Given the description of an element on the screen output the (x, y) to click on. 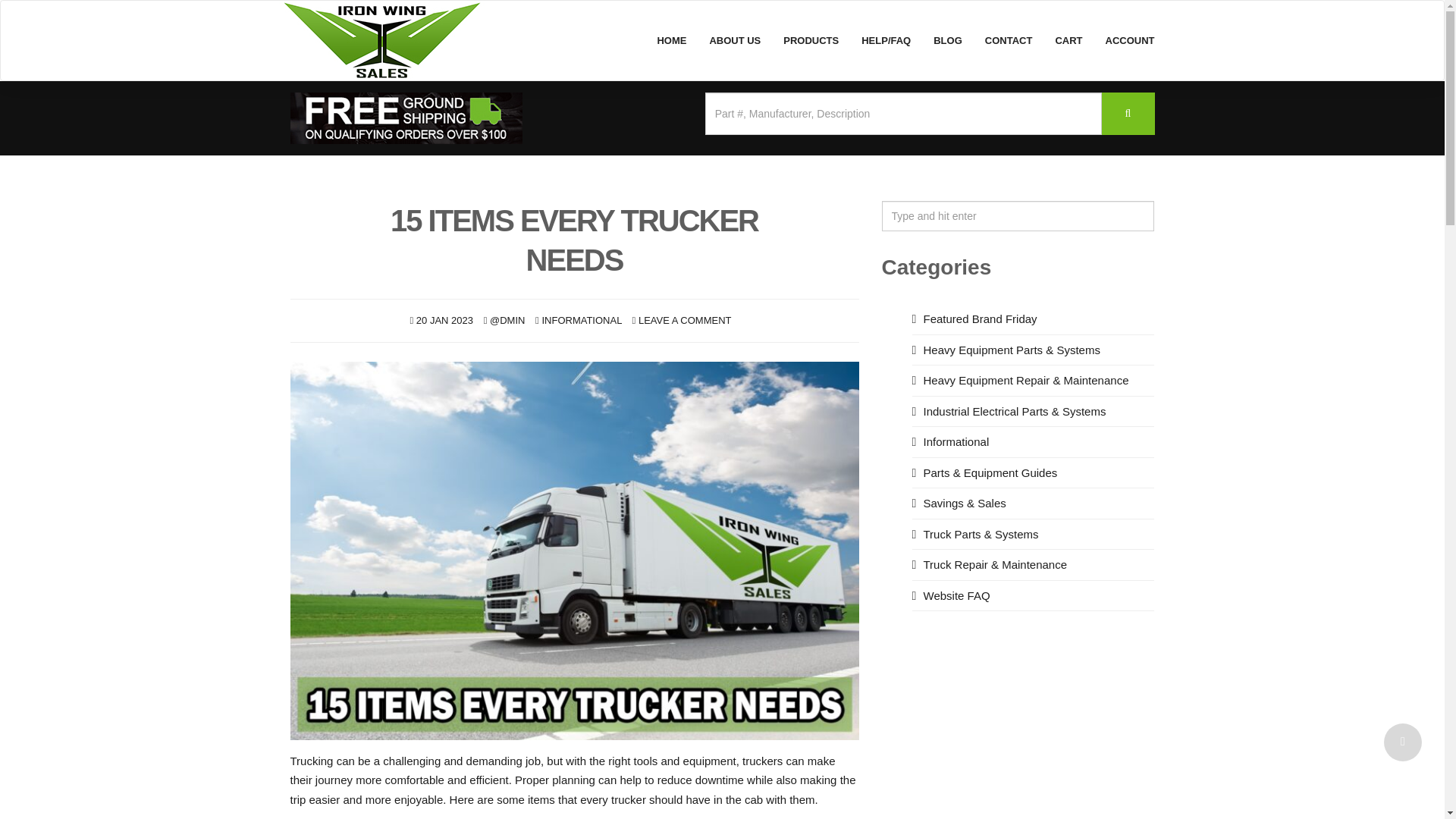
ACCOUNT (1129, 40)
PRODUCTS (810, 40)
ACCOUNT (1129, 40)
Informational (956, 440)
LEAVE A COMMENT (685, 319)
Website FAQ (956, 594)
ABOUT US (734, 40)
Featured Brand Friday (979, 318)
INFORMATIONAL (581, 319)
PRODUCTS (810, 40)
ABOUT US (734, 40)
